Given the description of an element on the screen output the (x, y) to click on. 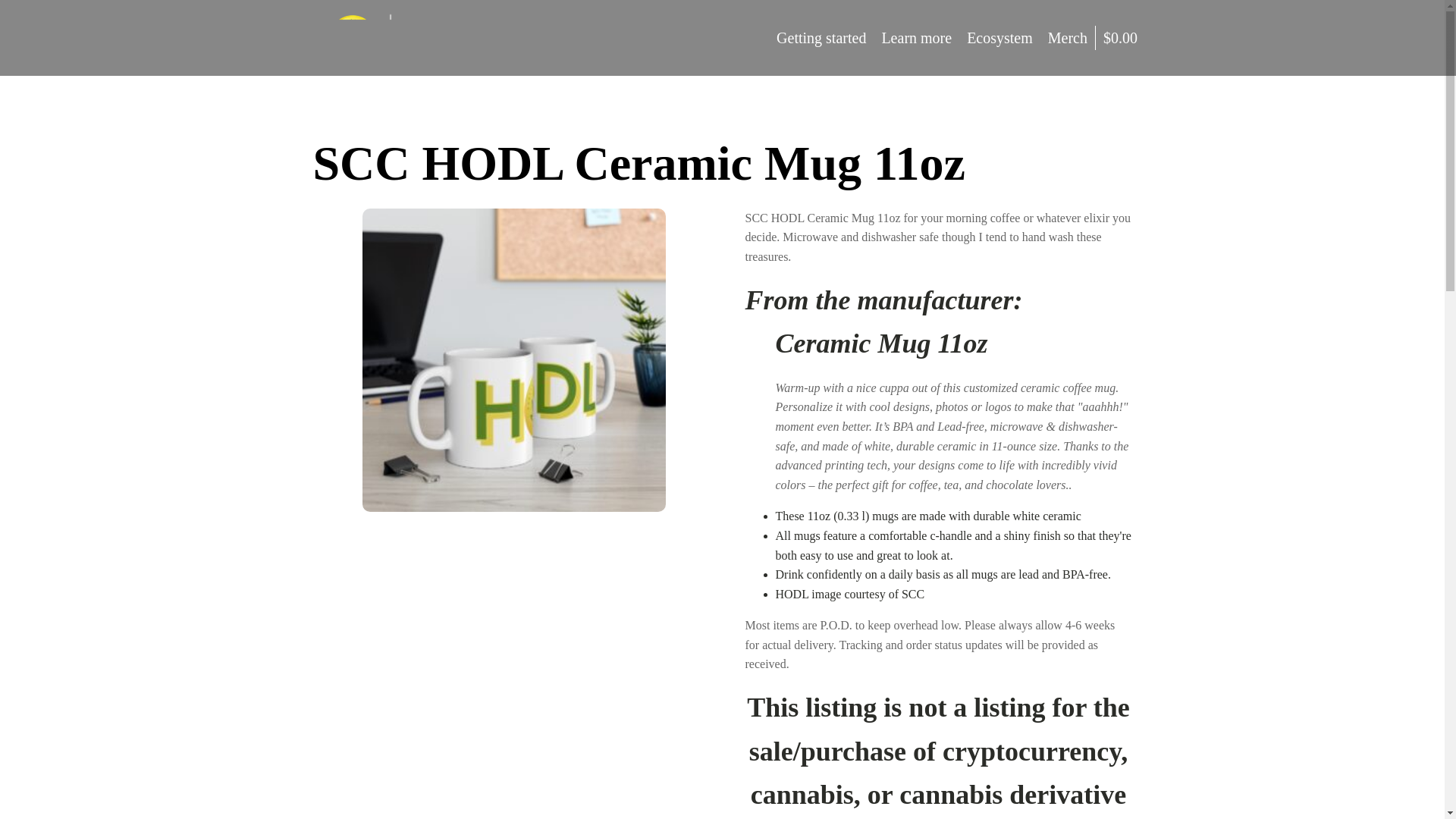
Learn more (916, 37)
Merch (1067, 37)
Ecosystem (1000, 37)
Getting started (820, 37)
